Given the description of an element on the screen output the (x, y) to click on. 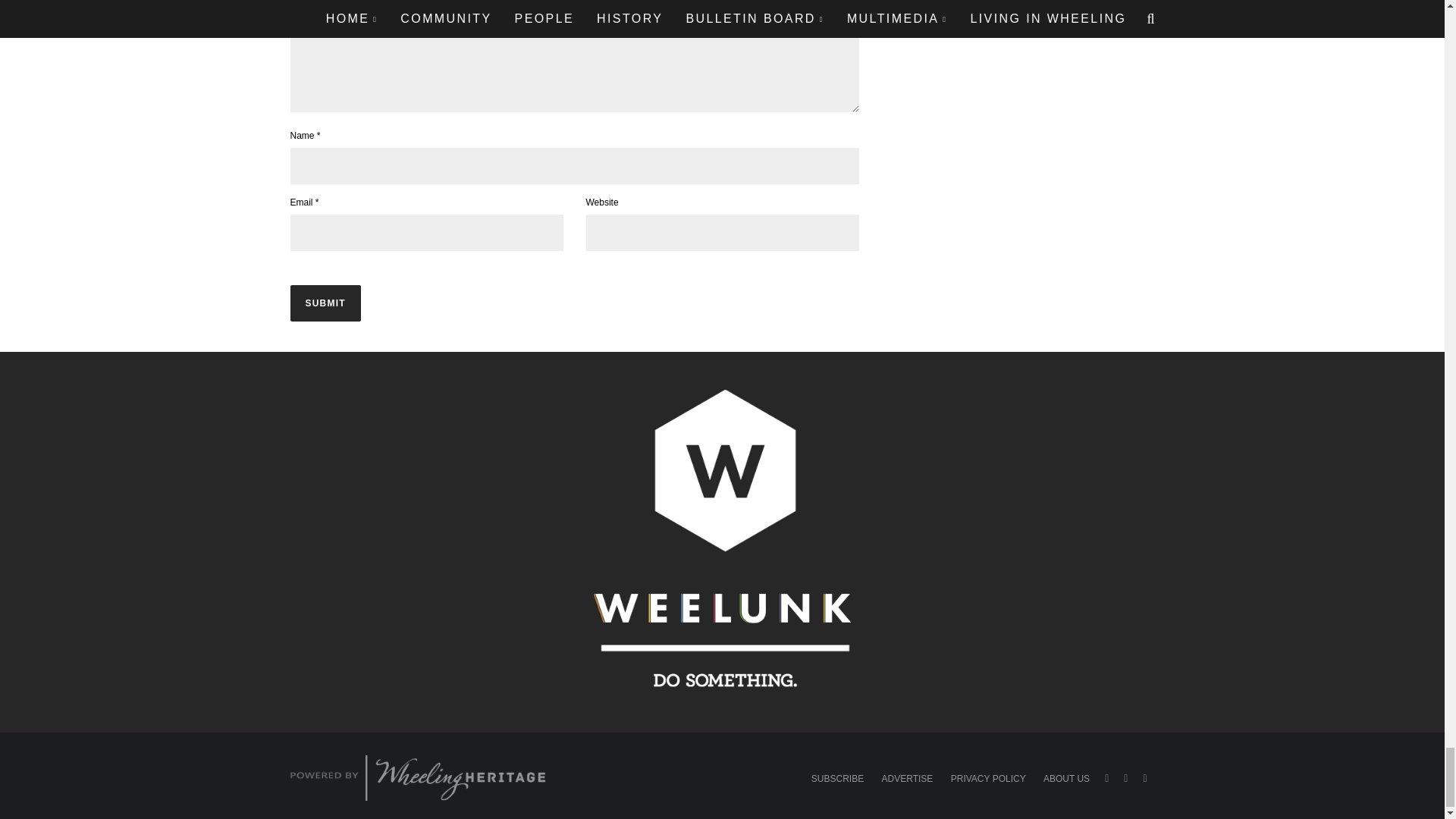
Submit (324, 303)
